Given the description of an element on the screen output the (x, y) to click on. 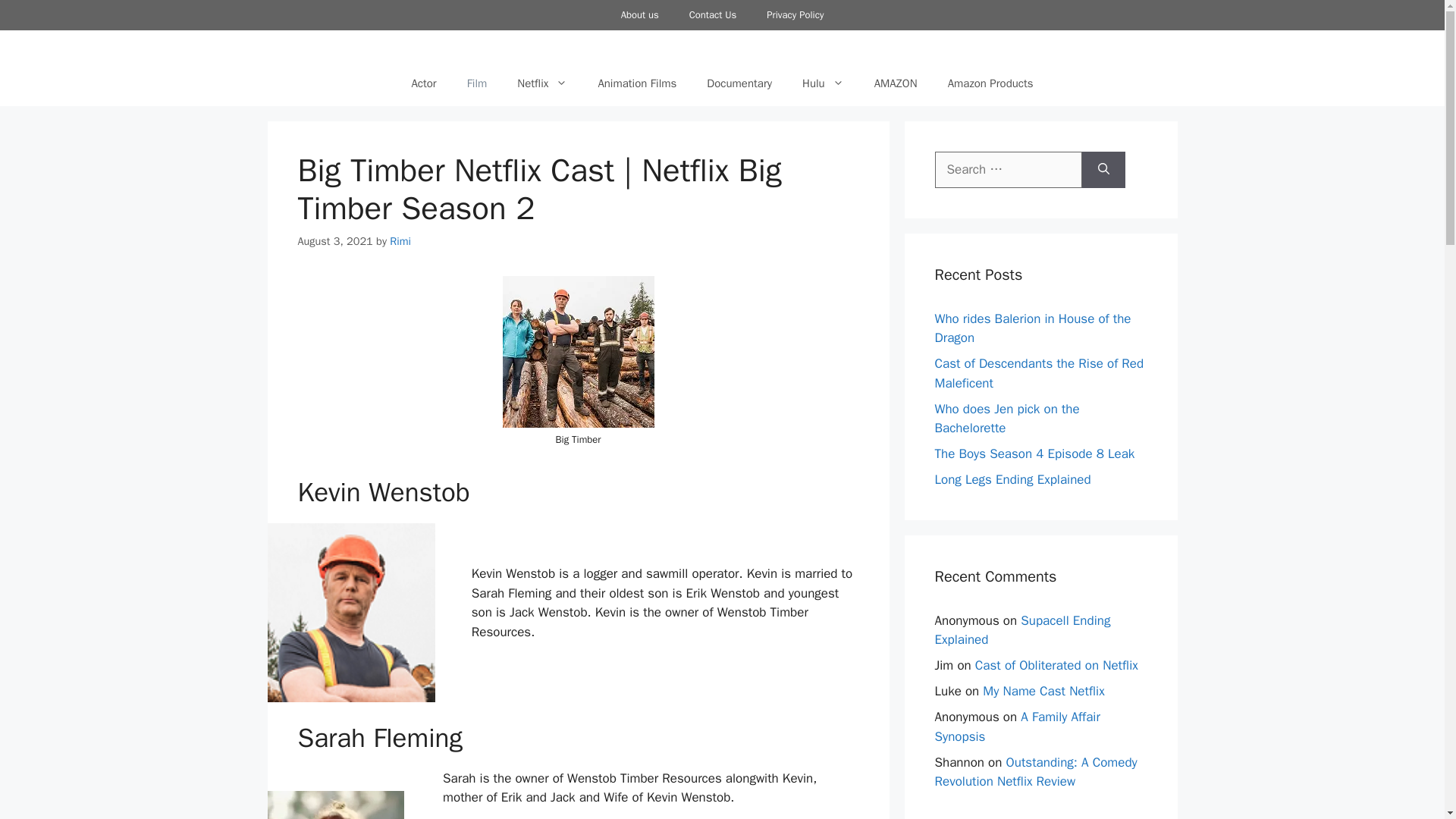
Rimi (400, 241)
Privacy Policy (794, 15)
Animation Films (636, 83)
Netflix (542, 83)
AMAZON (896, 83)
Actor (423, 83)
Film (476, 83)
Search for: (1007, 169)
About us (639, 15)
Amazon Products (990, 83)
Hulu (823, 83)
Documentary (739, 83)
Contact Us (713, 15)
View all posts by Rimi (400, 241)
